Given the description of an element on the screen output the (x, y) to click on. 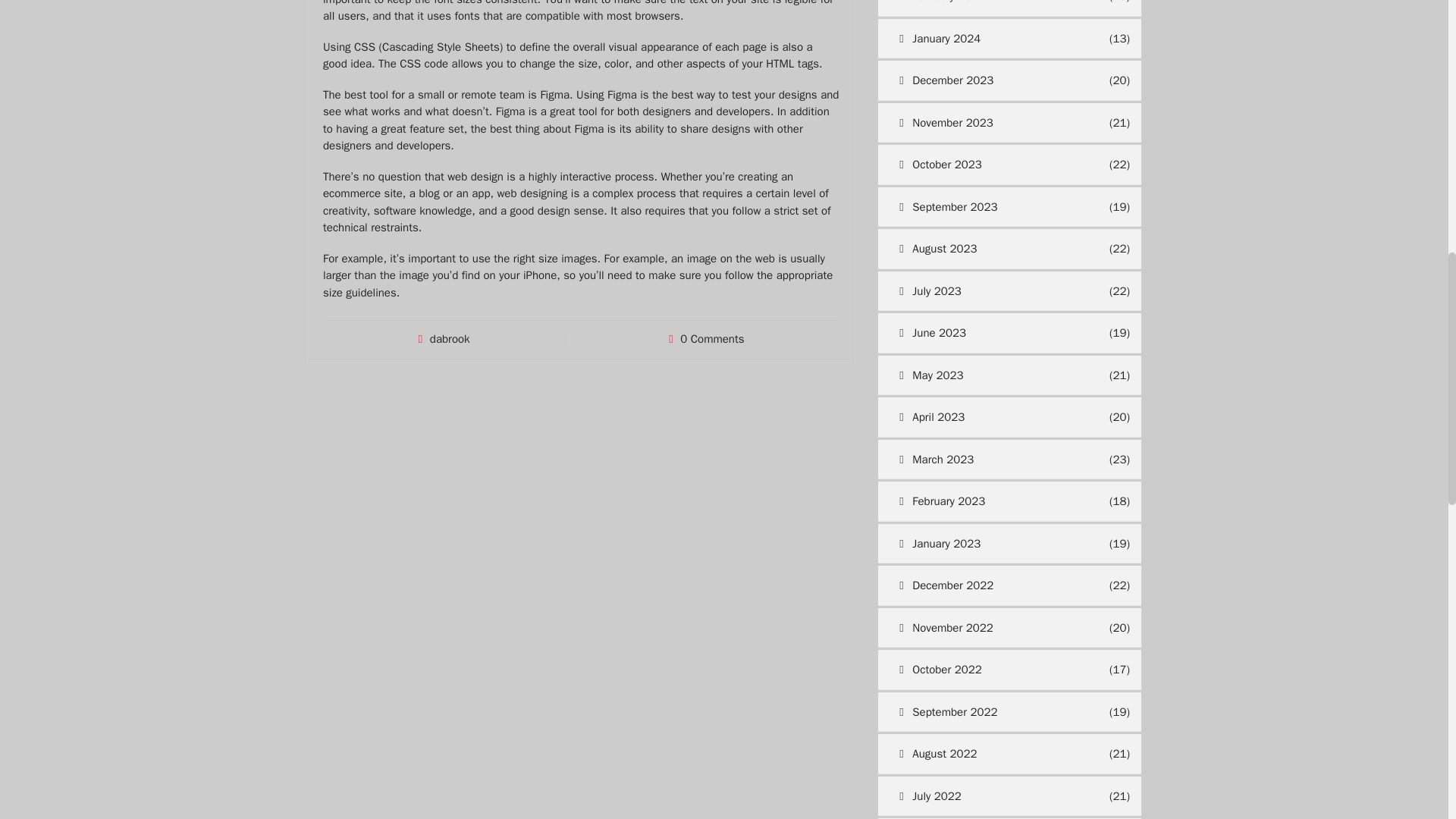
November 2023 (991, 123)
February 2024 (991, 8)
June 2023 (991, 332)
January 2024 (991, 38)
April 2023 (991, 417)
dabrook (449, 338)
July 2023 (991, 291)
December 2023 (991, 80)
October 2023 (991, 164)
May 2023 (991, 375)
September 2023 (991, 207)
0 Comments (711, 338)
August 2023 (991, 249)
